Given the description of an element on the screen output the (x, y) to click on. 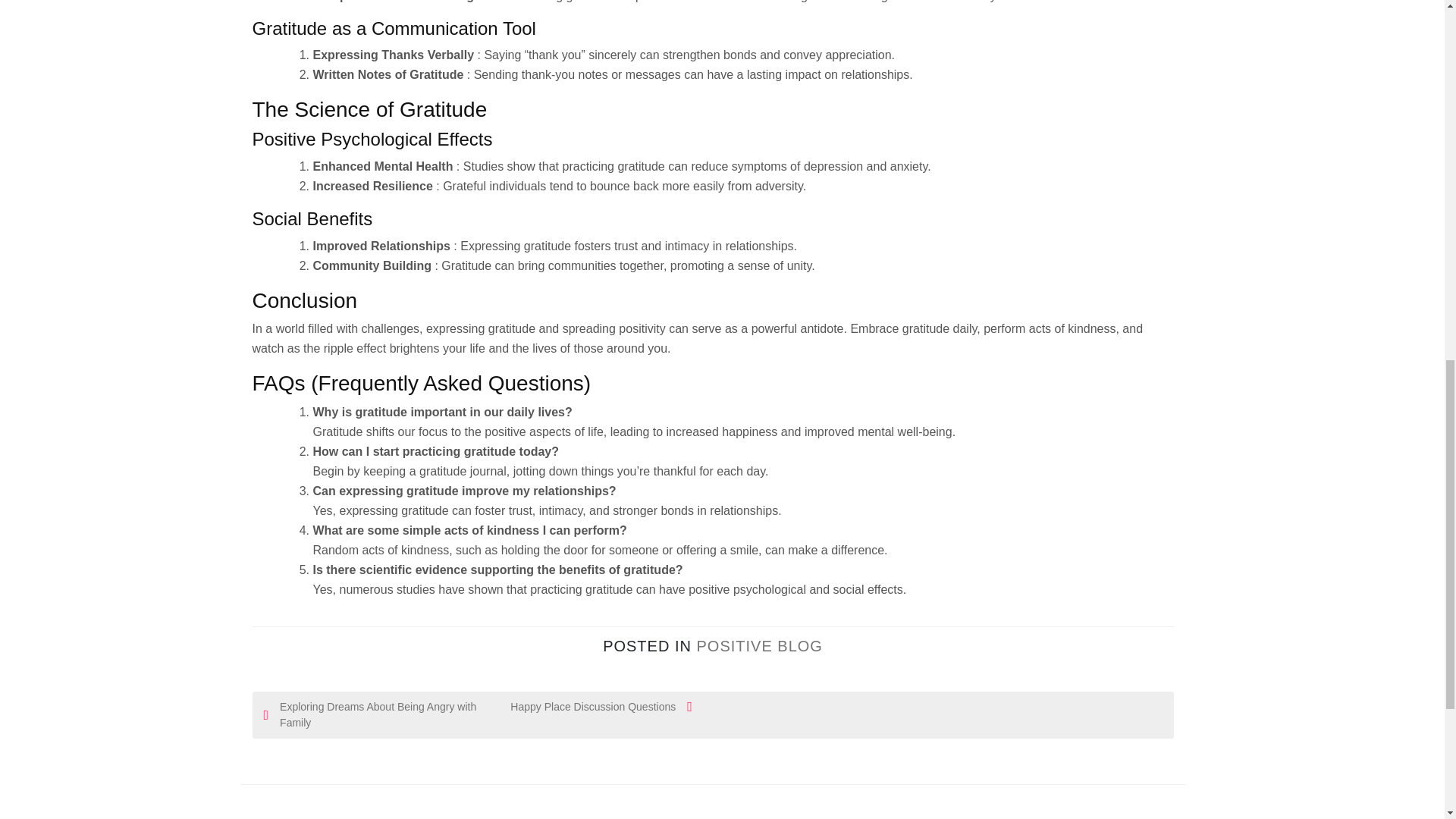
Happy Place Discussion Questions (585, 706)
Exploring Dreams About Being Angry with Family (371, 715)
POSITIVE BLOG (758, 646)
